Given the description of an element on the screen output the (x, y) to click on. 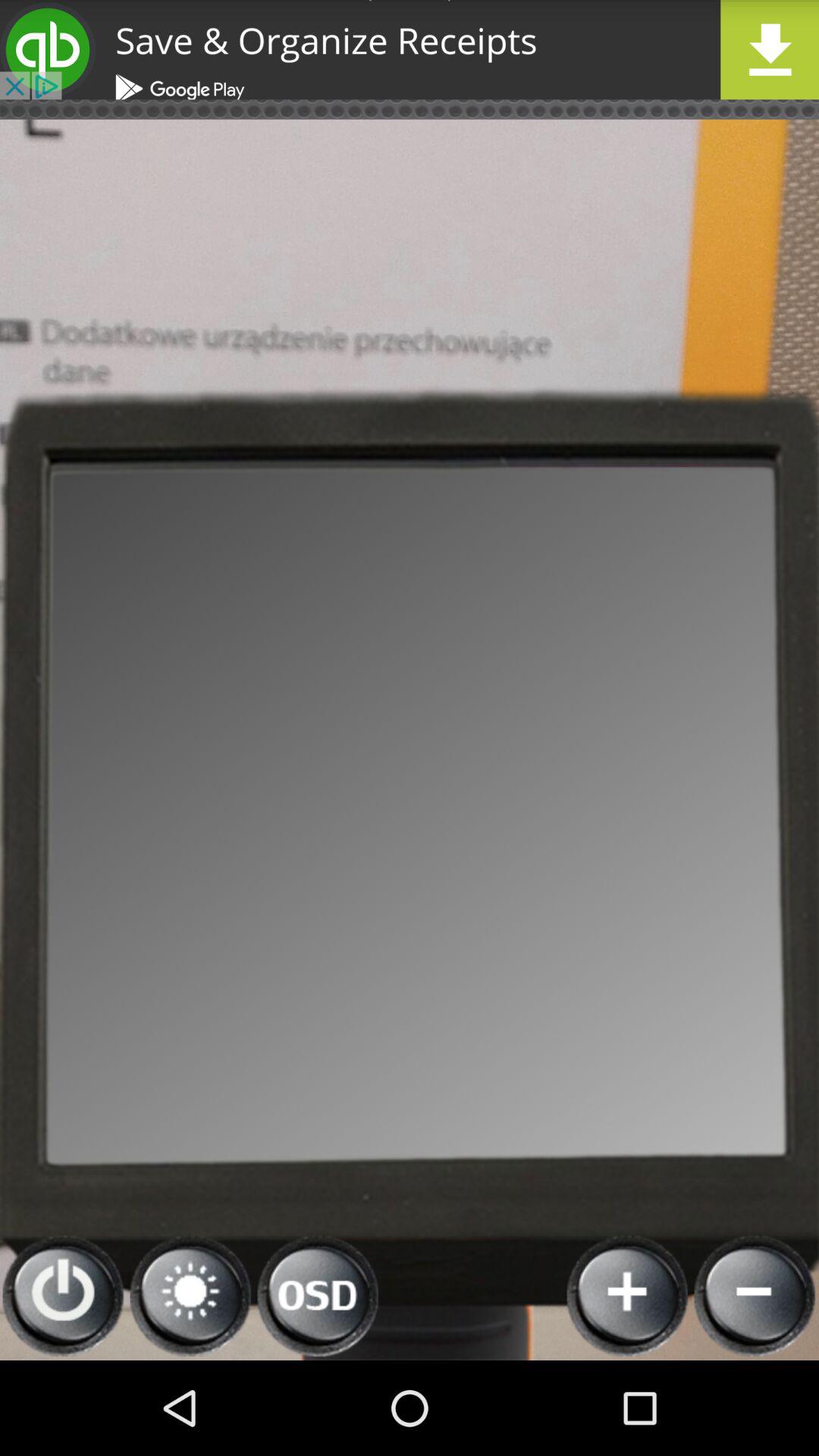
view app (409, 49)
